Given the description of an element on the screen output the (x, y) to click on. 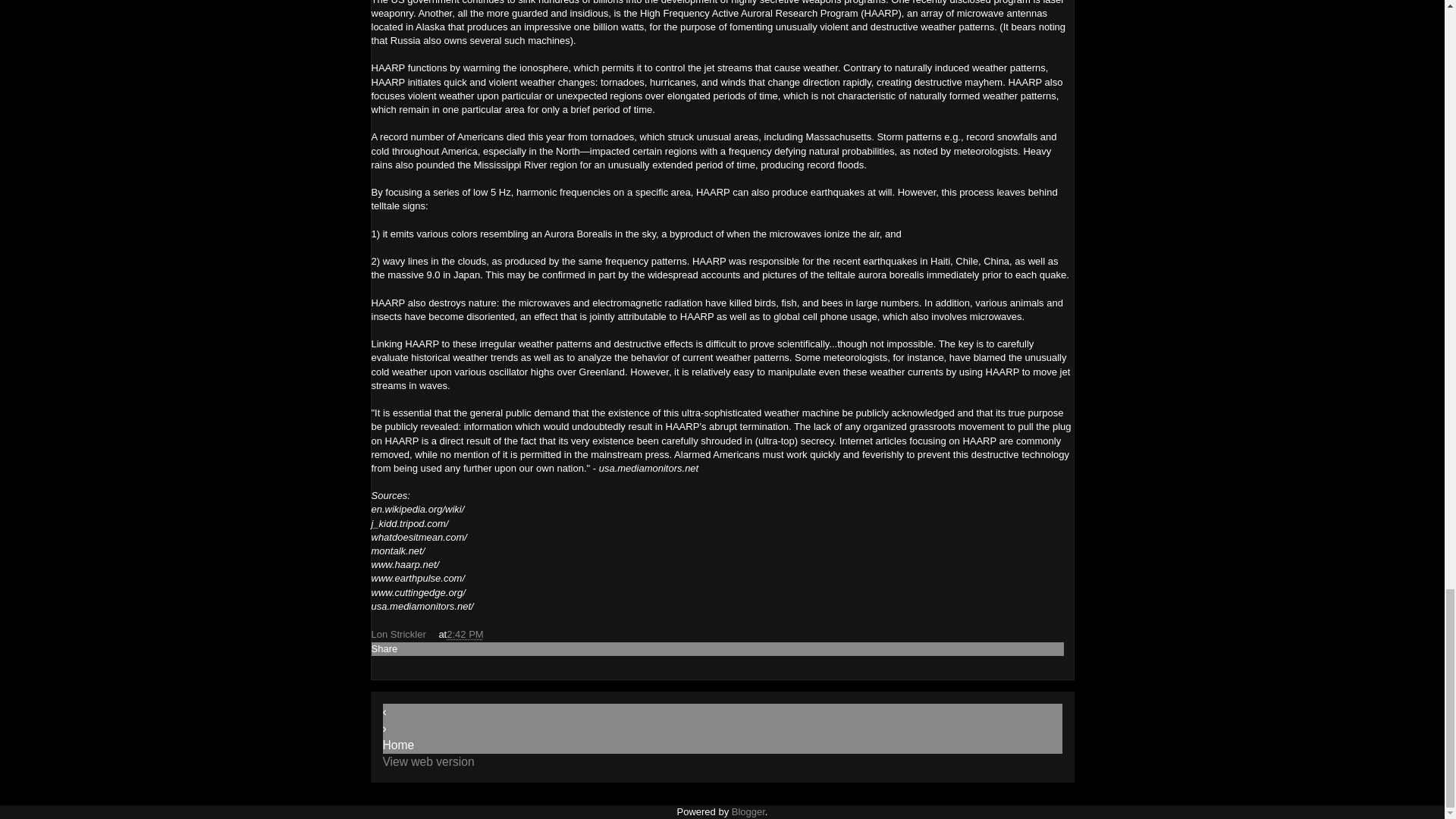
permanent link (464, 633)
2:42 PM (464, 633)
View web version (427, 761)
Home (397, 744)
Blogger (748, 811)
Lon Strickler (398, 633)
Share (384, 648)
author profile (398, 633)
